Given the description of an element on the screen output the (x, y) to click on. 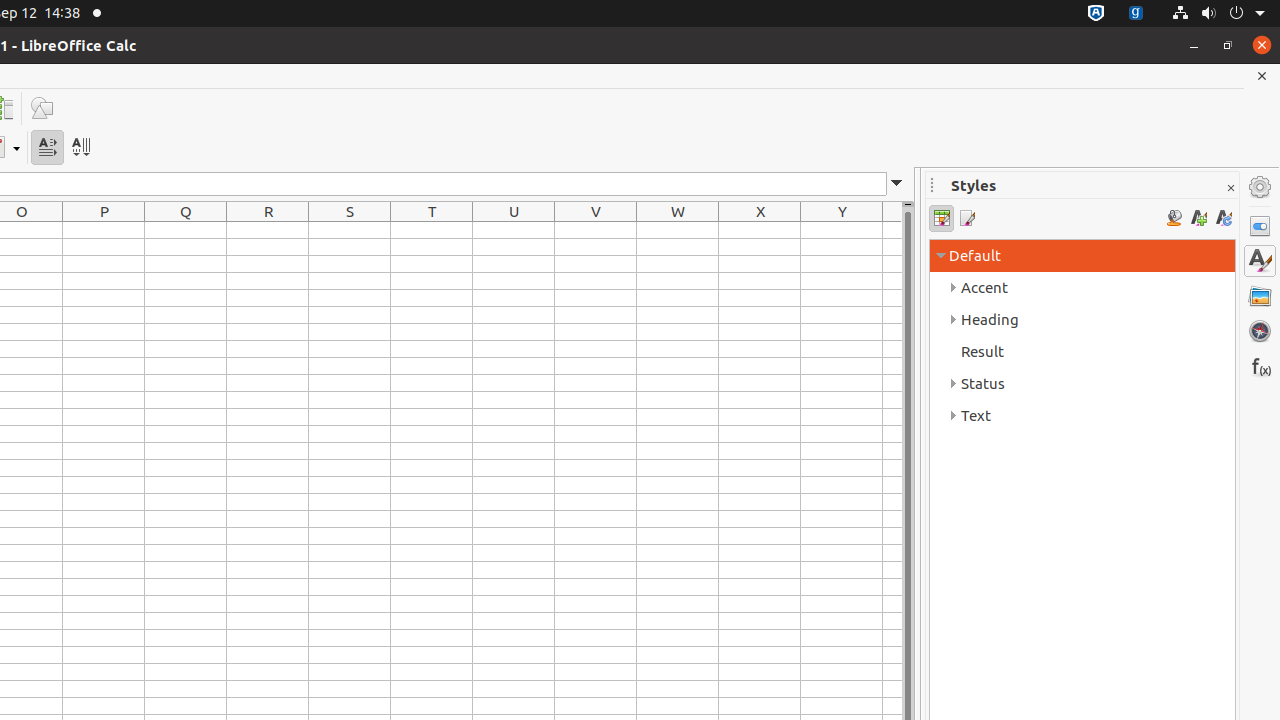
Properties Element type: radio-button (1260, 226)
S1 Element type: table-cell (350, 230)
Navigator Element type: radio-button (1260, 331)
:1.72/StatusNotifierItem Element type: menu (1096, 13)
